Given the description of an element on the screen output the (x, y) to click on. 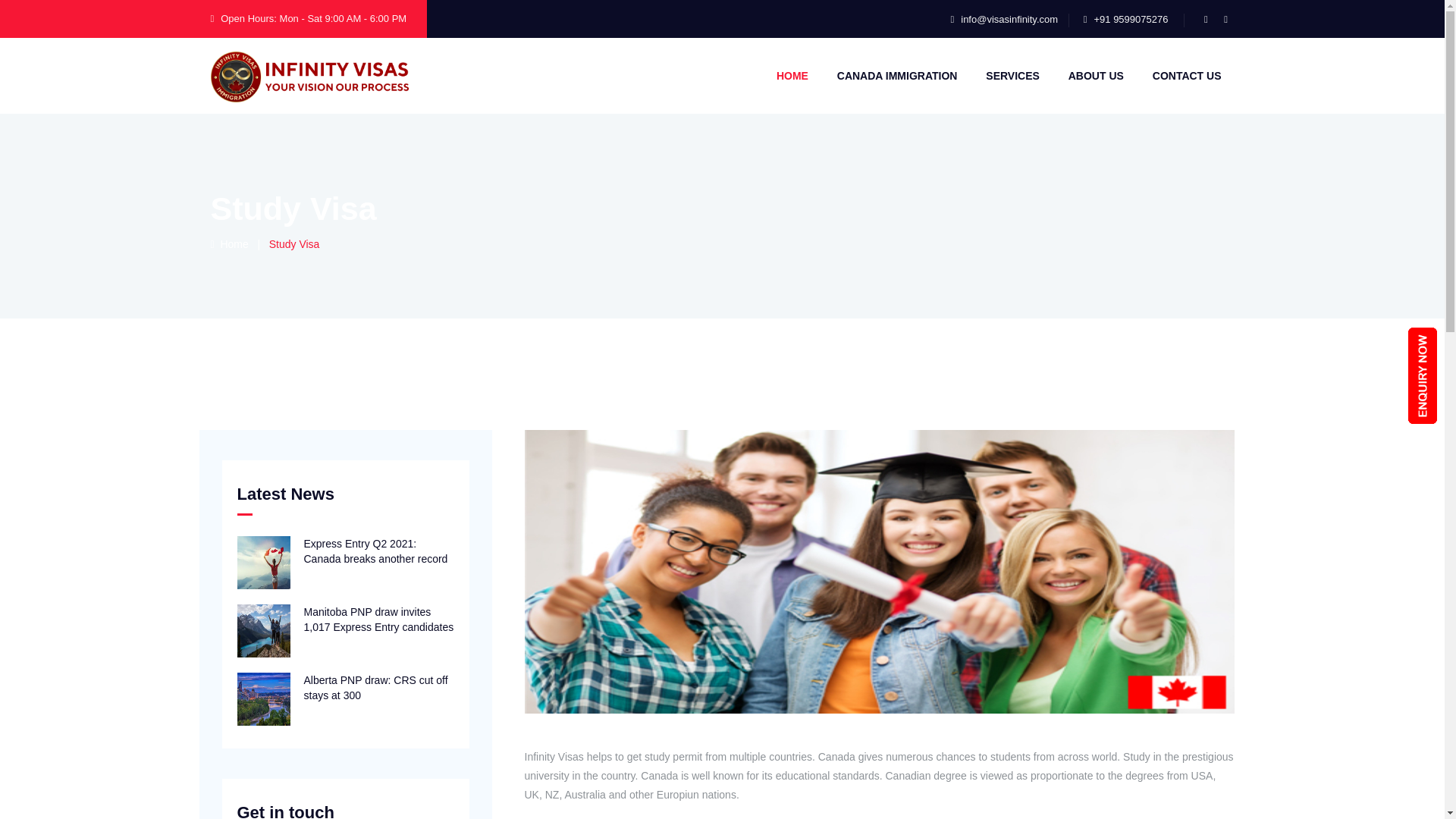
Fondex (310, 75)
CONTACT US (1187, 75)
  Home (229, 244)
ABOUT US (1096, 75)
Manitoba PNP draw invites 1,017 Express Entry candidates (343, 631)
CANADA IMMIGRATION (897, 75)
Express Entry Q2 2021: Canada breaks another record (343, 562)
SERVICES (1012, 75)
Homepage (229, 244)
Alberta PNP draw: CRS cut off stays at 300 (343, 699)
